Given the description of an element on the screen output the (x, y) to click on. 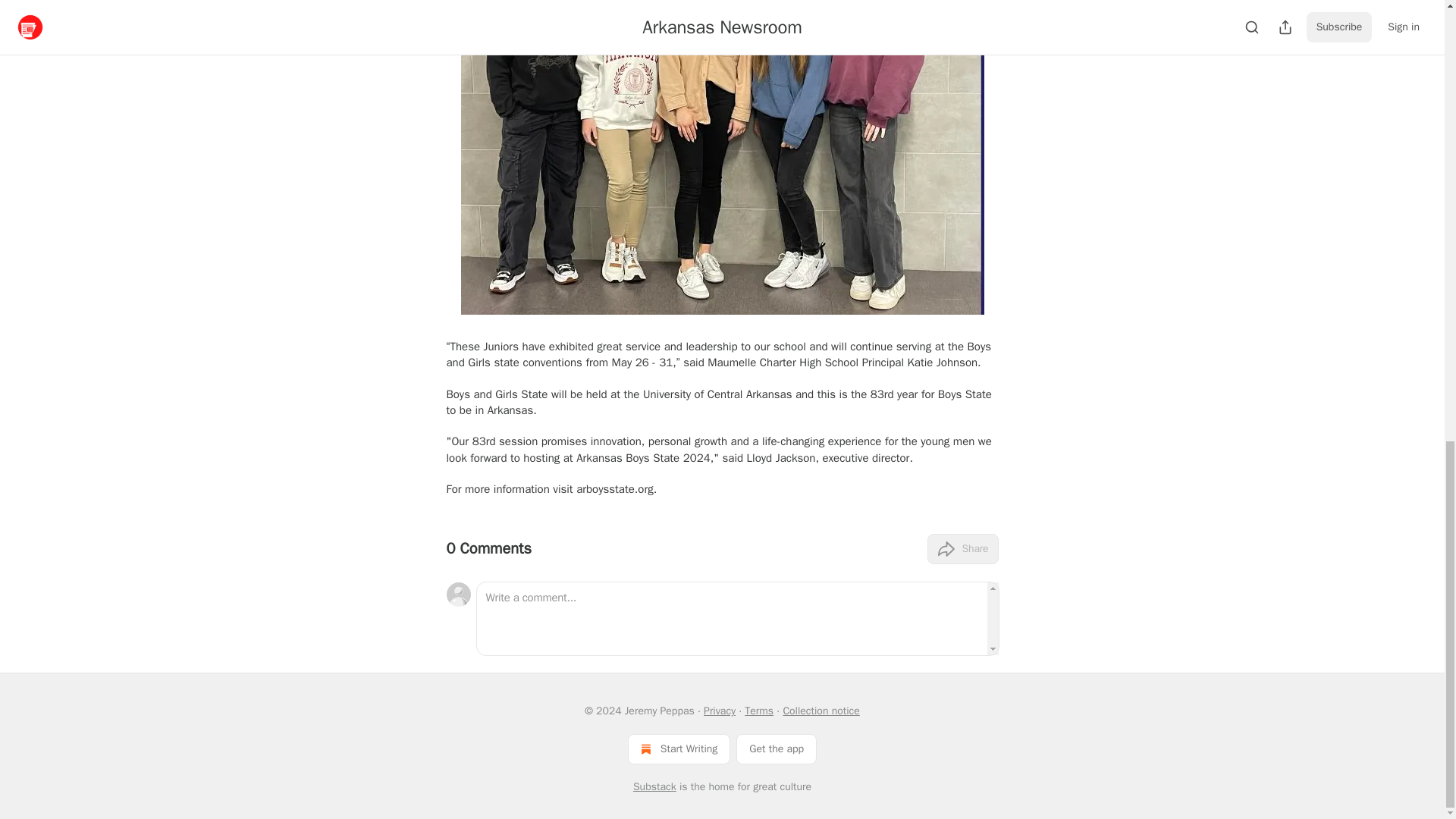
Start Writing (678, 748)
Collection notice (821, 710)
Share (962, 548)
Substack (655, 786)
Get the app (776, 748)
Terms (758, 710)
Privacy (719, 710)
